Given the description of an element on the screen output the (x, y) to click on. 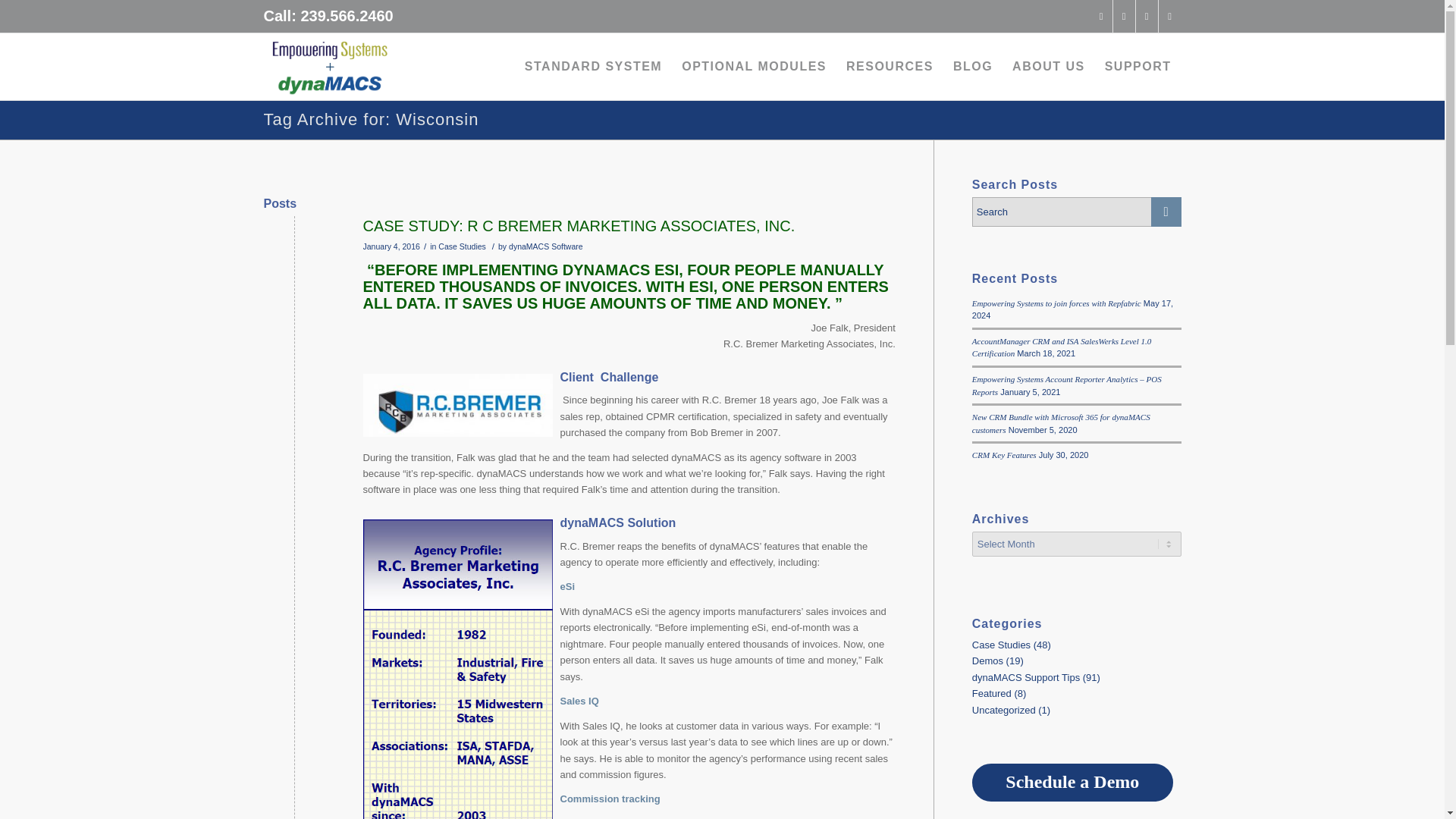
ABOUT US (1048, 66)
Permanent Link: Tag Archive for: Wisconsin (371, 118)
SUPPORT (1137, 66)
RESOURCES (889, 66)
STANDARD SYSTEM (593, 66)
OPTIONAL MODULES (753, 66)
Posts by dynaMACS Software (545, 245)
